Given the description of an element on the screen output the (x, y) to click on. 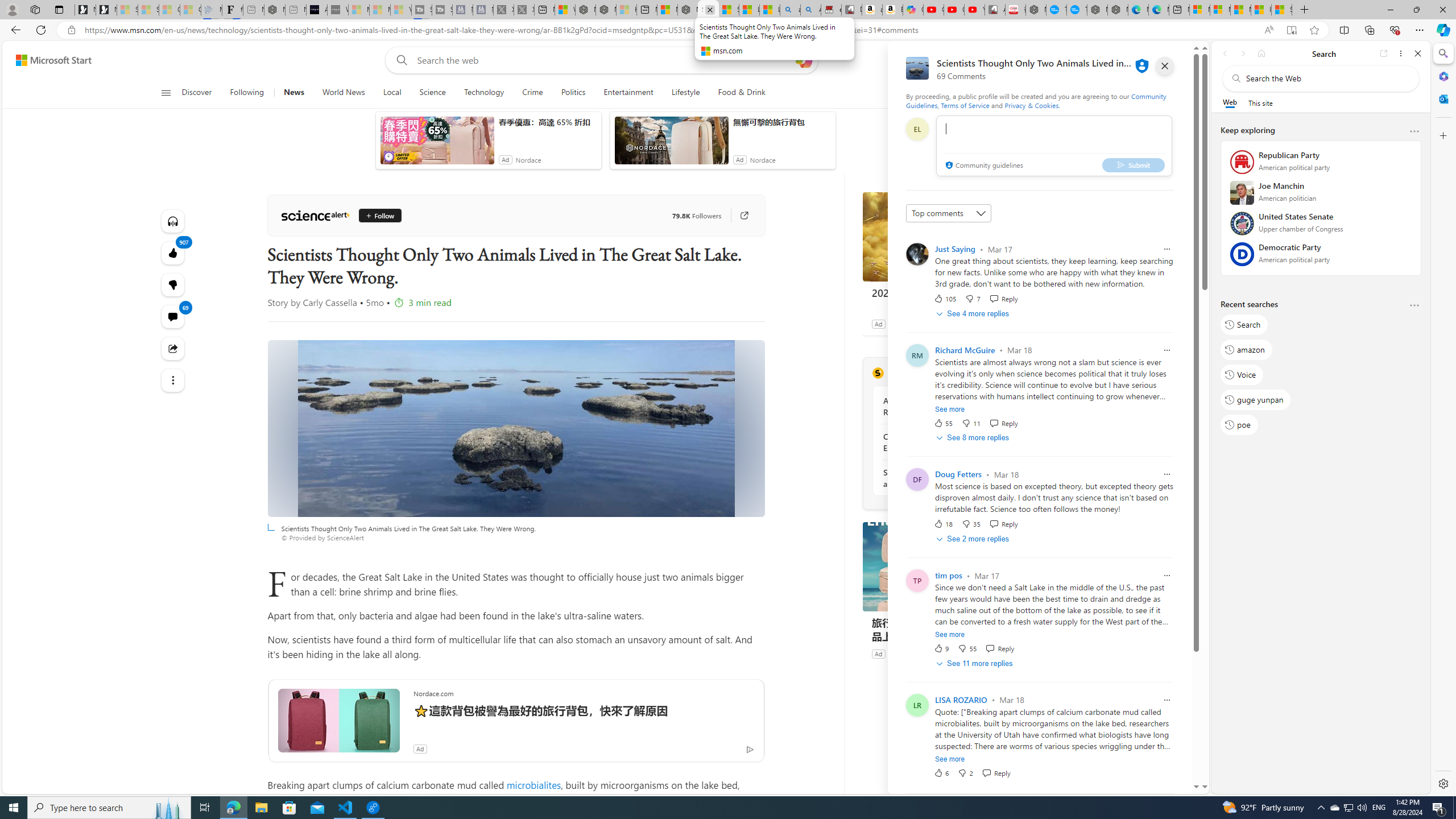
Home (1261, 53)
close (1164, 65)
Listen to this article (172, 221)
Back (1225, 53)
Nordace - Summer Adventures 2024 (606, 9)
See 4 more replies (973, 313)
New Tab (1305, 9)
tim pos (948, 575)
United States Senate Upper chamber of Congress (1321, 226)
Settings (1442, 783)
